Given the description of an element on the screen output the (x, y) to click on. 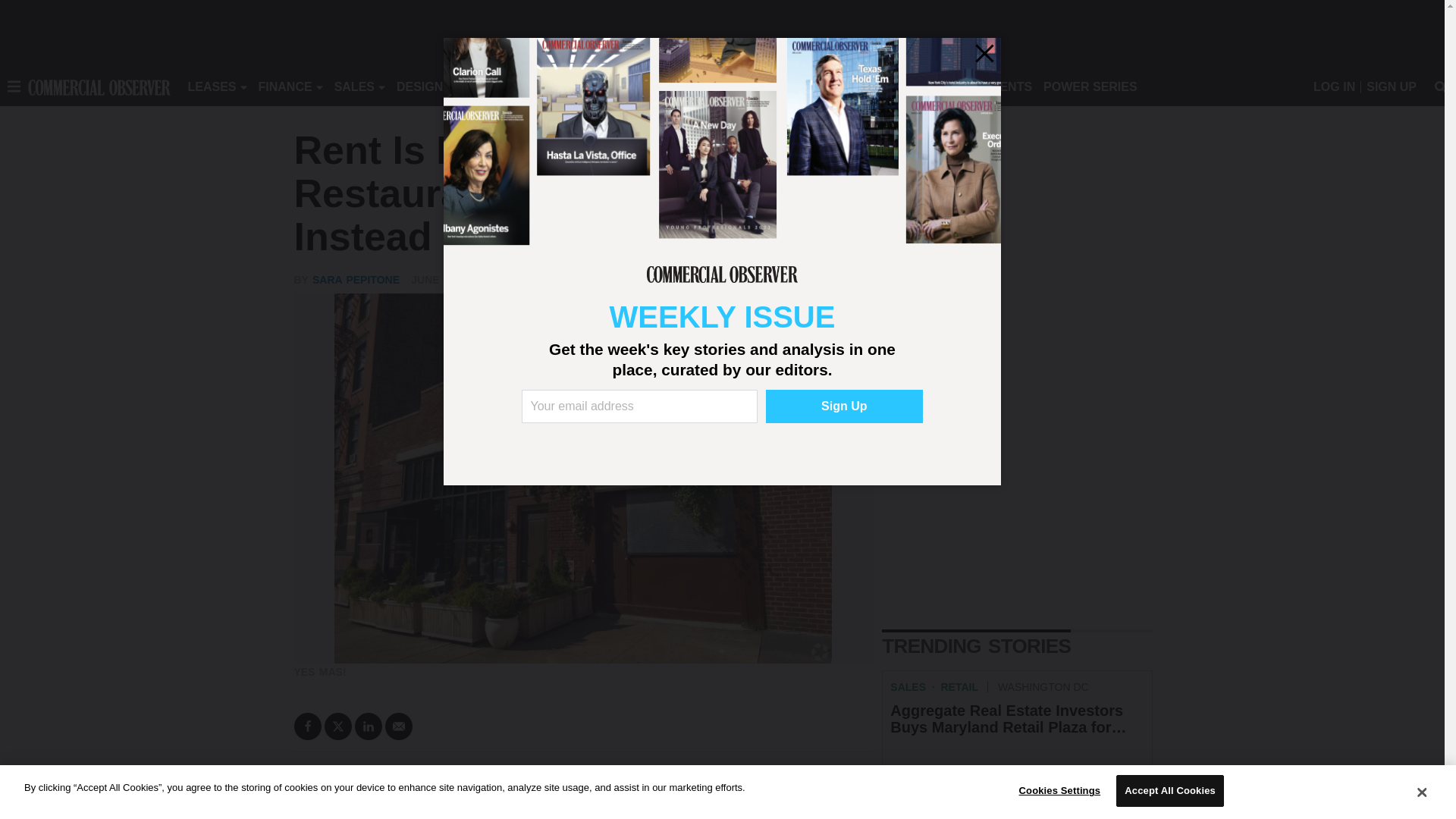
SALES (354, 86)
Commercial Observer Home (98, 86)
Share on Facebook (307, 726)
Posts by Sara Pepitone (355, 279)
LEASES (211, 86)
Share on LinkedIn (368, 726)
FINANCE (286, 86)
Tweet (338, 726)
TECHNOLOGY (619, 86)
MORE (691, 86)
Send email (398, 726)
